Given the description of an element on the screen output the (x, y) to click on. 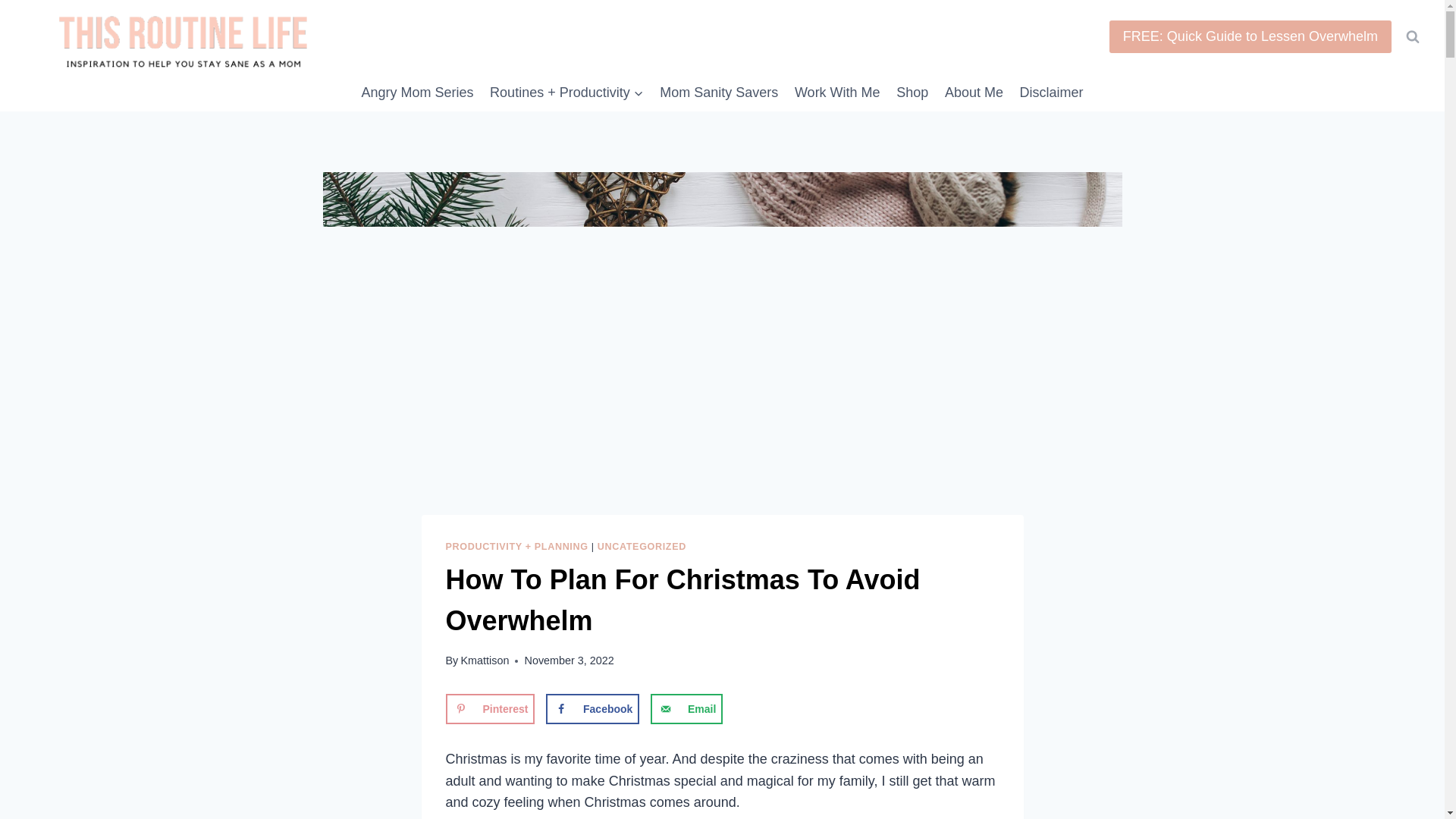
Disclaimer (1051, 92)
Mom Sanity Savers (719, 92)
Pinterest (490, 708)
Shop (912, 92)
Save to Pinterest (490, 708)
Work With Me (837, 92)
About Me (973, 92)
FREE: Quick Guide to Lessen Overwhelm (1250, 36)
UNCATEGORIZED (640, 546)
Email (686, 708)
